Given the description of an element on the screen output the (x, y) to click on. 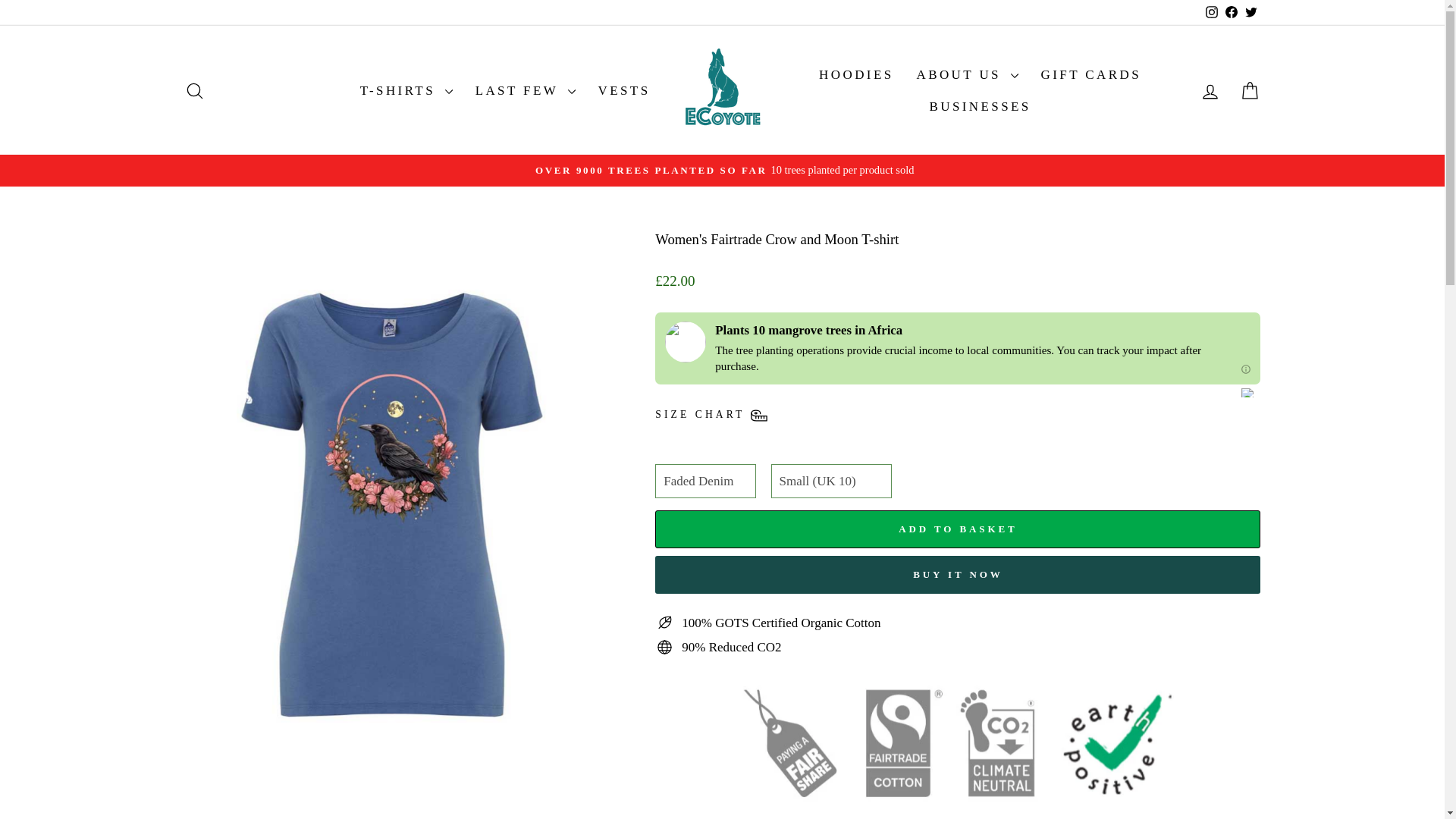
twitter (1250, 11)
ECoyote Clothing on Facebook (1230, 12)
ECoyote Clothing on Instagram (1211, 12)
VESTS (624, 90)
HOODIES (856, 74)
ACCOUNT (1210, 91)
ECoyote Clothing on Twitter (1211, 12)
instagram (1250, 12)
ICON-SEARCH (1250, 12)
Facebook (1211, 11)
